Given the description of an element on the screen output the (x, y) to click on. 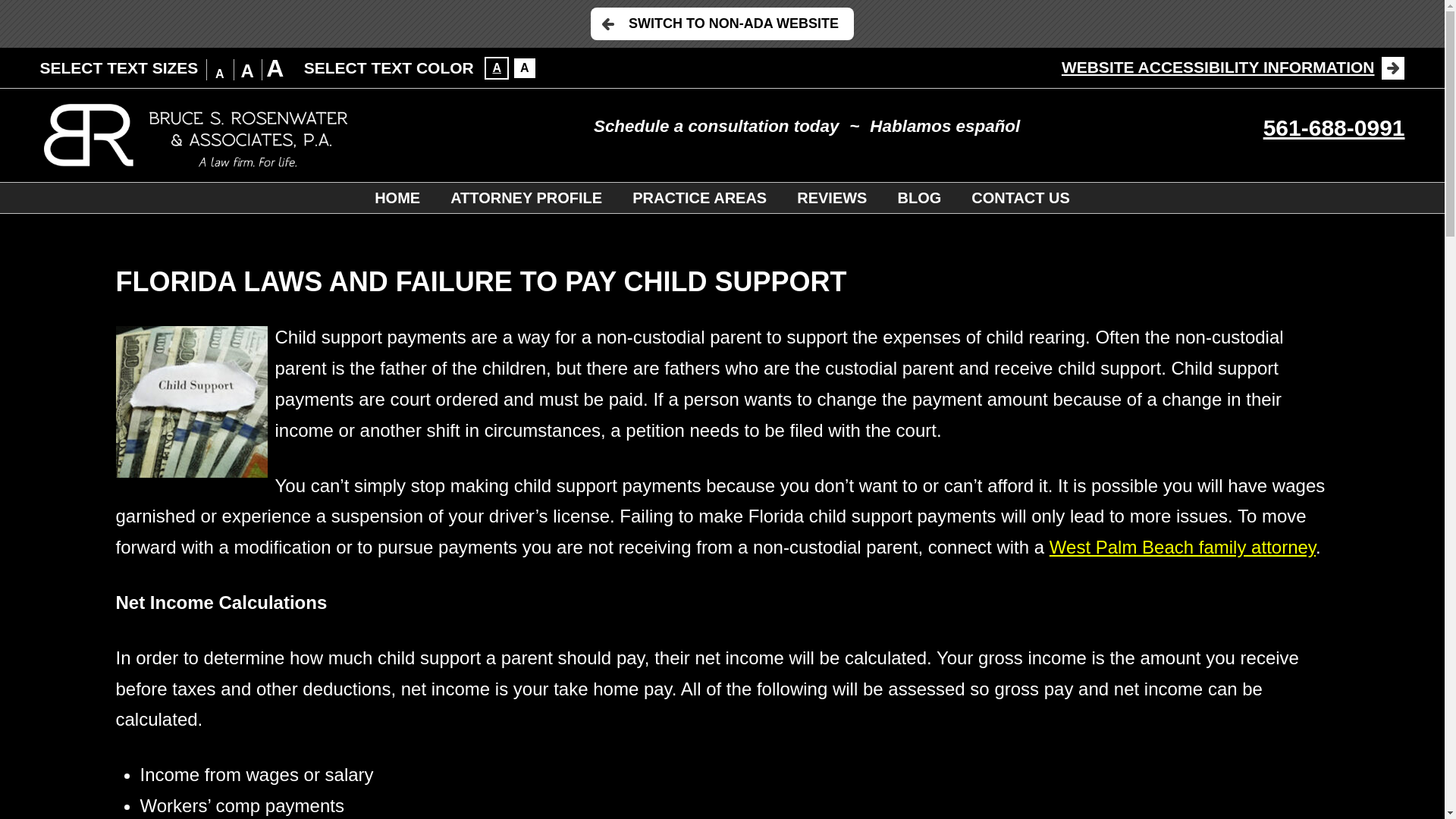
Invert Colors (524, 67)
A (524, 67)
PRACTICE AREAS (699, 197)
ATTORNEY PROFILE (526, 197)
HOME (397, 197)
CSupport9 (190, 401)
SWITCH TO NON-ADA WEBSITE (722, 23)
A (496, 67)
Click to view external accessibility article (1233, 67)
561-688-0991 (1334, 127)
